Given the description of an element on the screen output the (x, y) to click on. 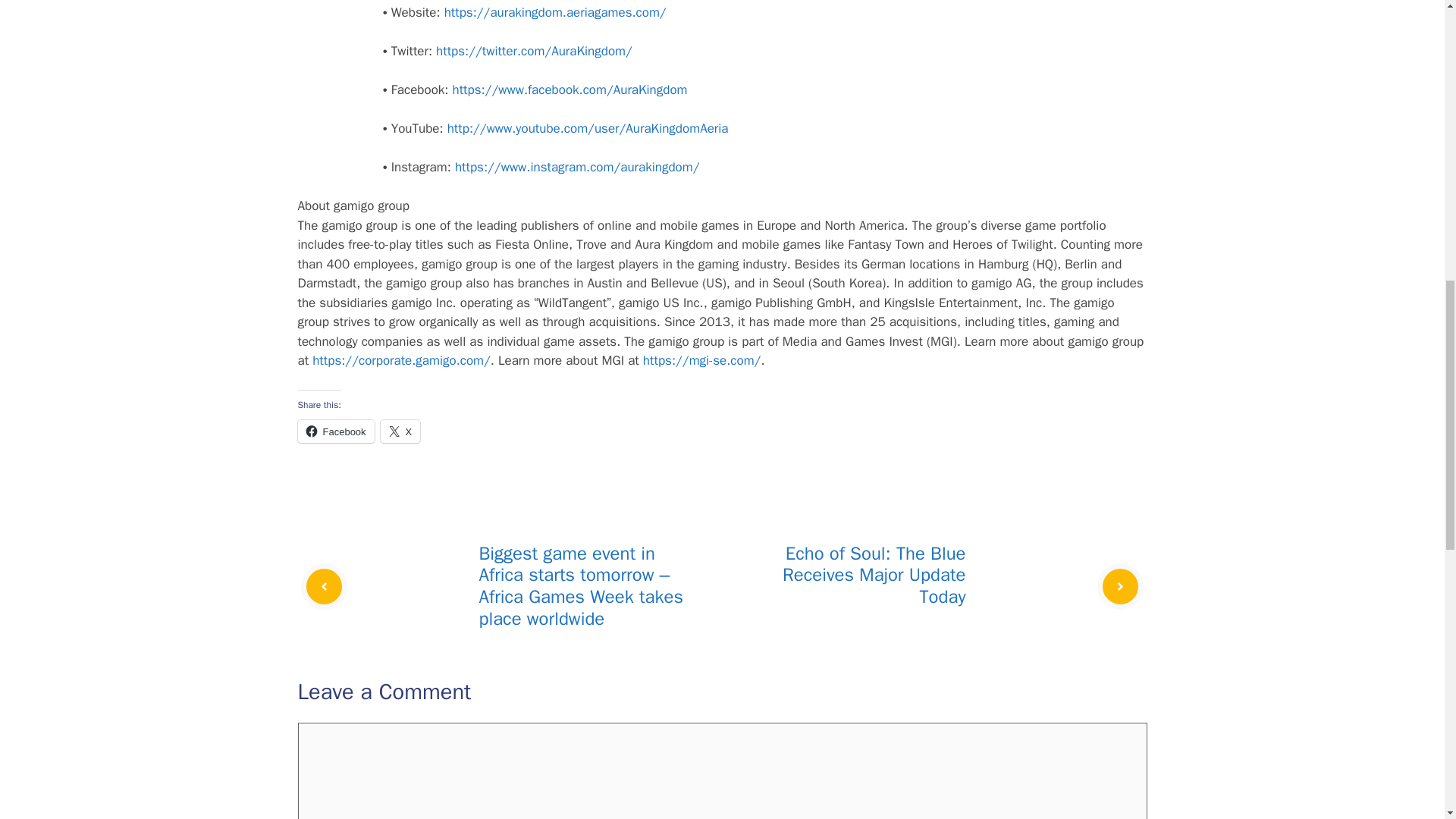
Facebook (335, 431)
Click to share on X (400, 431)
Click to share on Facebook (335, 431)
Echo of Soul: The Blue Receives Major Update Today (874, 575)
X (400, 431)
